Given the description of an element on the screen output the (x, y) to click on. 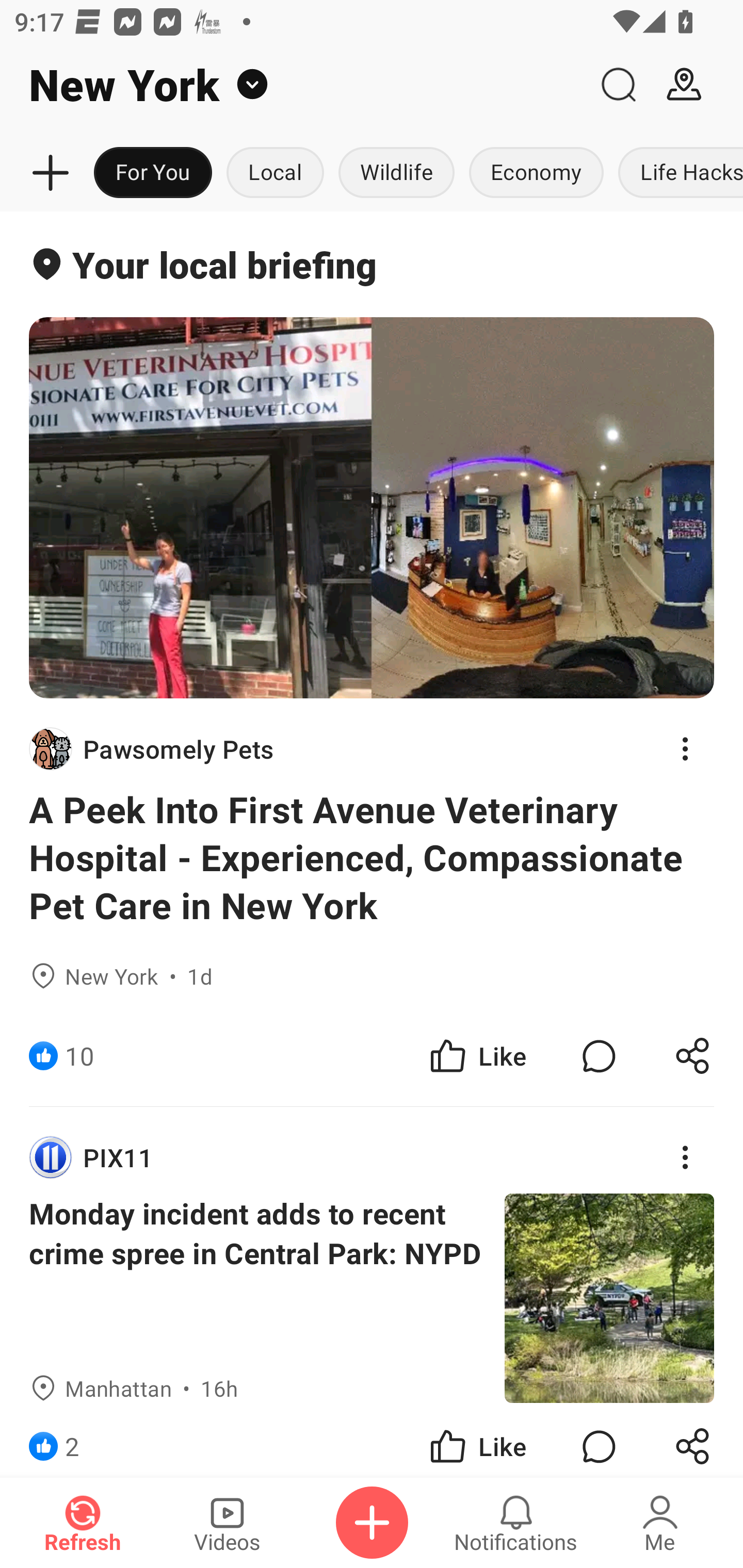
New York (292, 84)
For You (152, 172)
Local (275, 172)
Wildlife (396, 172)
Economy (536, 172)
Life Hacks (676, 172)
10 (79, 1055)
Like (476, 1055)
2 (72, 1440)
Like (476, 1440)
Videos (227, 1522)
Notifications (516, 1522)
Me (659, 1522)
